Given the description of an element on the screen output the (x, y) to click on. 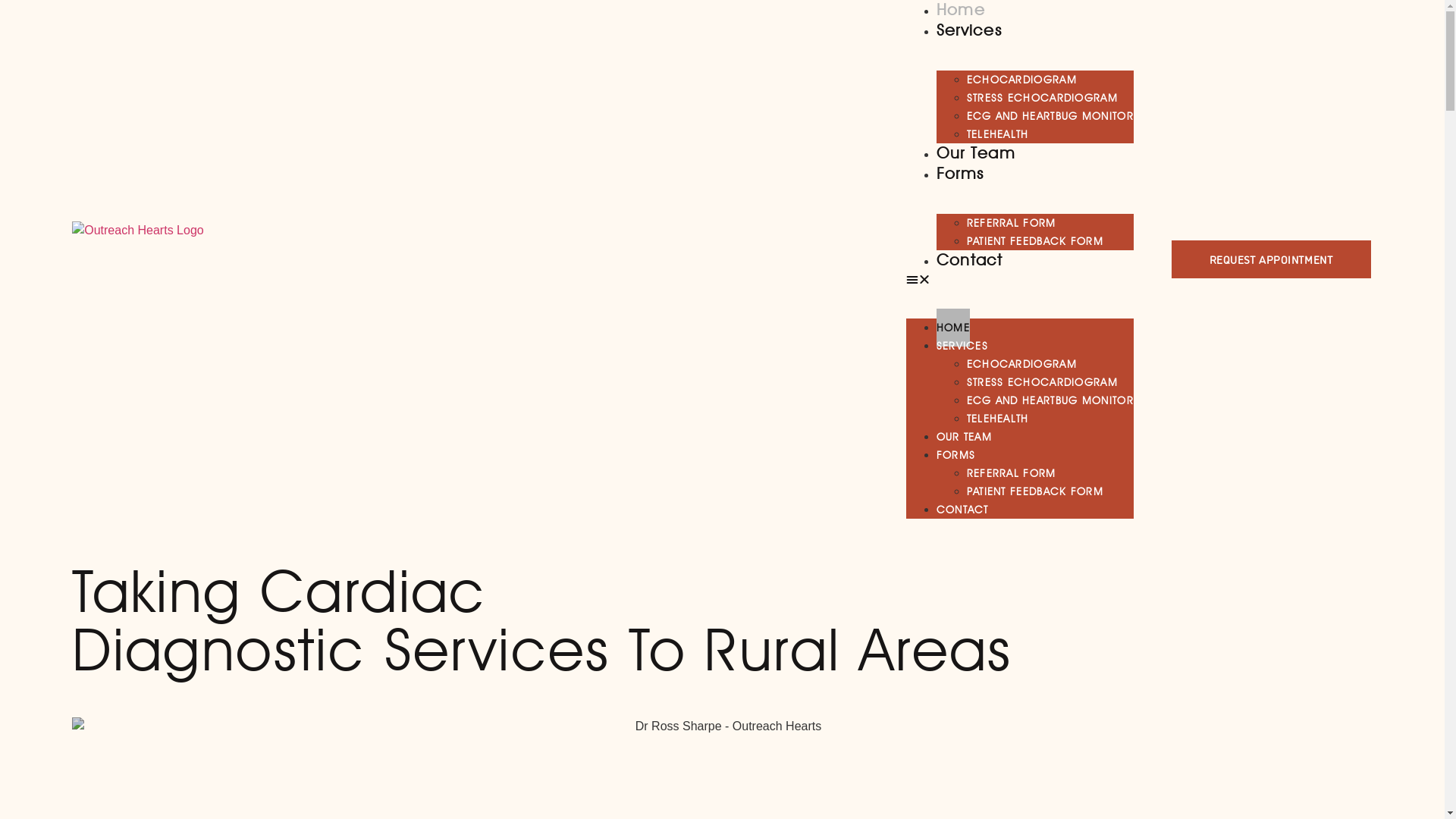
REQUEST APPOINTMENT Element type: text (1271, 259)
ECG AND HEARTBUG MONITOR Element type: text (1049, 400)
Forms Element type: text (960, 172)
TELEHEALTH Element type: text (997, 134)
TELEHEALTH Element type: text (997, 418)
CONTACT Element type: text (962, 509)
STRESS ECHOCARDIOGRAM Element type: text (1041, 382)
ECHOCARDIOGRAM Element type: text (1021, 363)
PATIENT FEEDBACK FORM Element type: text (1034, 241)
HOME Element type: text (952, 327)
FORMS Element type: text (955, 454)
STRESS ECHOCARDIOGRAM Element type: text (1041, 97)
SERVICES Element type: text (962, 345)
Our Team Element type: text (975, 152)
ECG AND HEARTBUG MONITOR Element type: text (1049, 115)
PATIENT FEEDBACK FORM Element type: text (1034, 491)
Services Element type: text (968, 29)
REFERRAL FORM Element type: text (1011, 473)
OUR TEAM Element type: text (963, 436)
Home Element type: text (960, 9)
Contact Element type: text (969, 259)
ECHOCARDIOGRAM Element type: text (1021, 79)
REFERRAL FORM Element type: text (1011, 222)
